Given the description of an element on the screen output the (x, y) to click on. 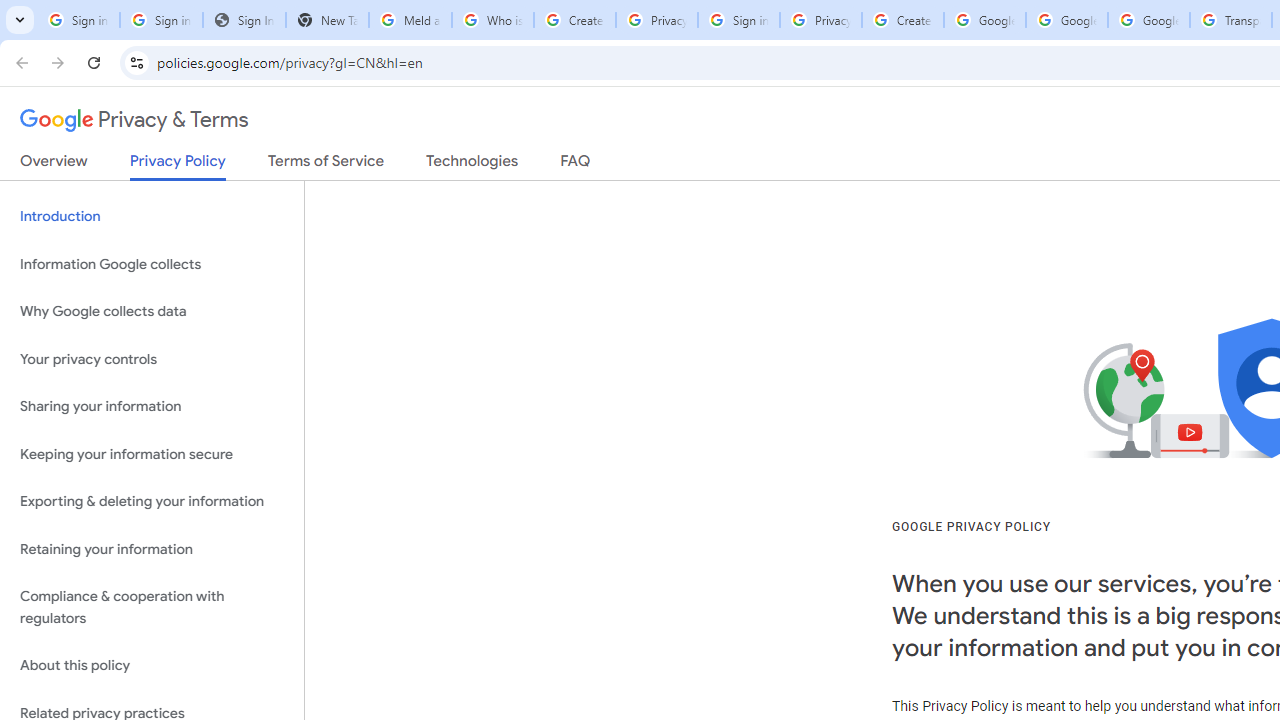
Retaining your information (152, 548)
Sign In - USA TODAY (244, 20)
Information Google collects (152, 263)
Sign in - Google Accounts (78, 20)
Exporting & deleting your information (152, 502)
Sign in - Google Accounts (161, 20)
Sharing your information (152, 407)
